Given the description of an element on the screen output the (x, y) to click on. 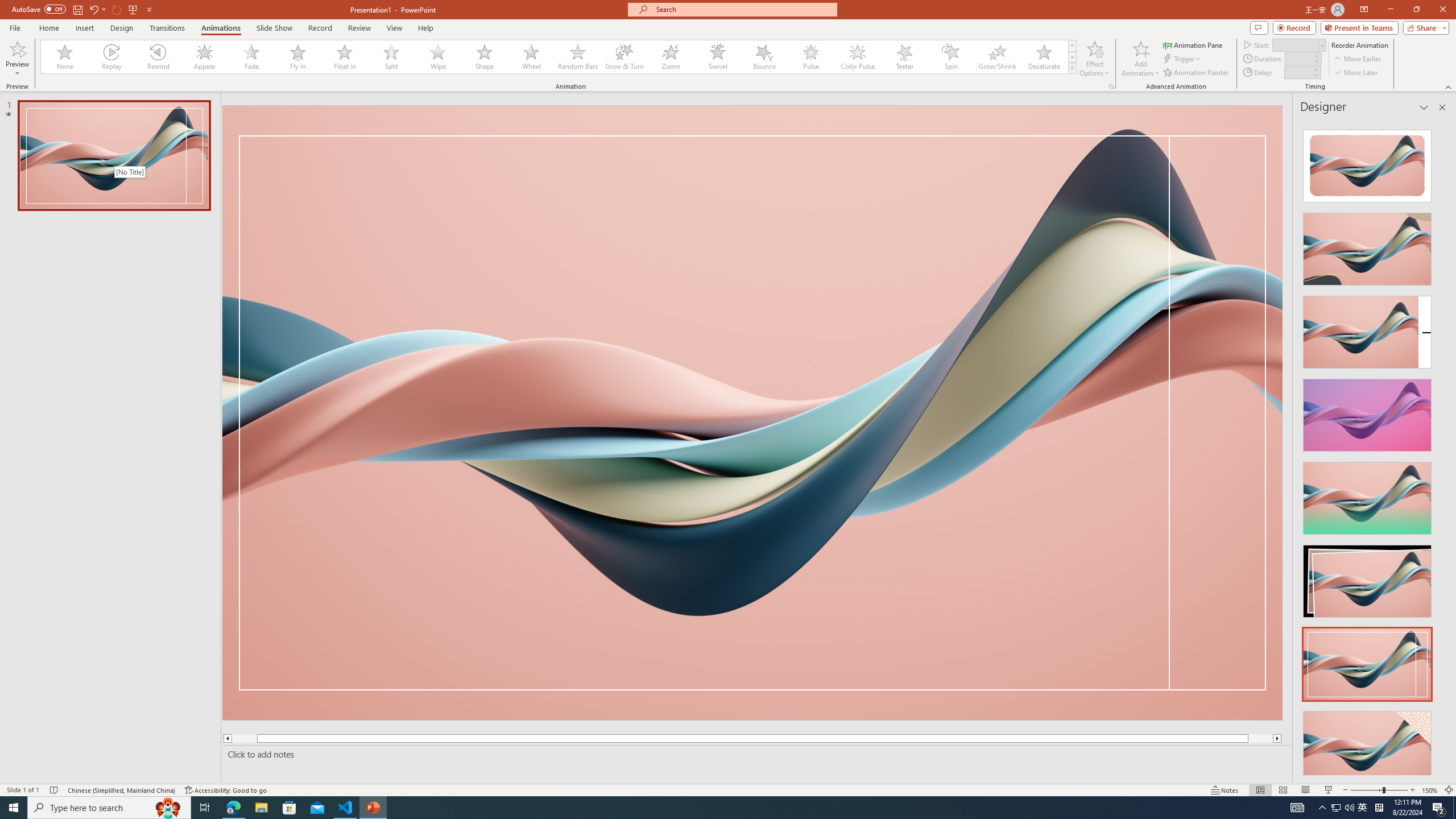
Grow/Shrink (997, 56)
AutomationID: AnimationGallery (558, 56)
Rewind (158, 56)
